Given the description of an element on the screen output the (x, y) to click on. 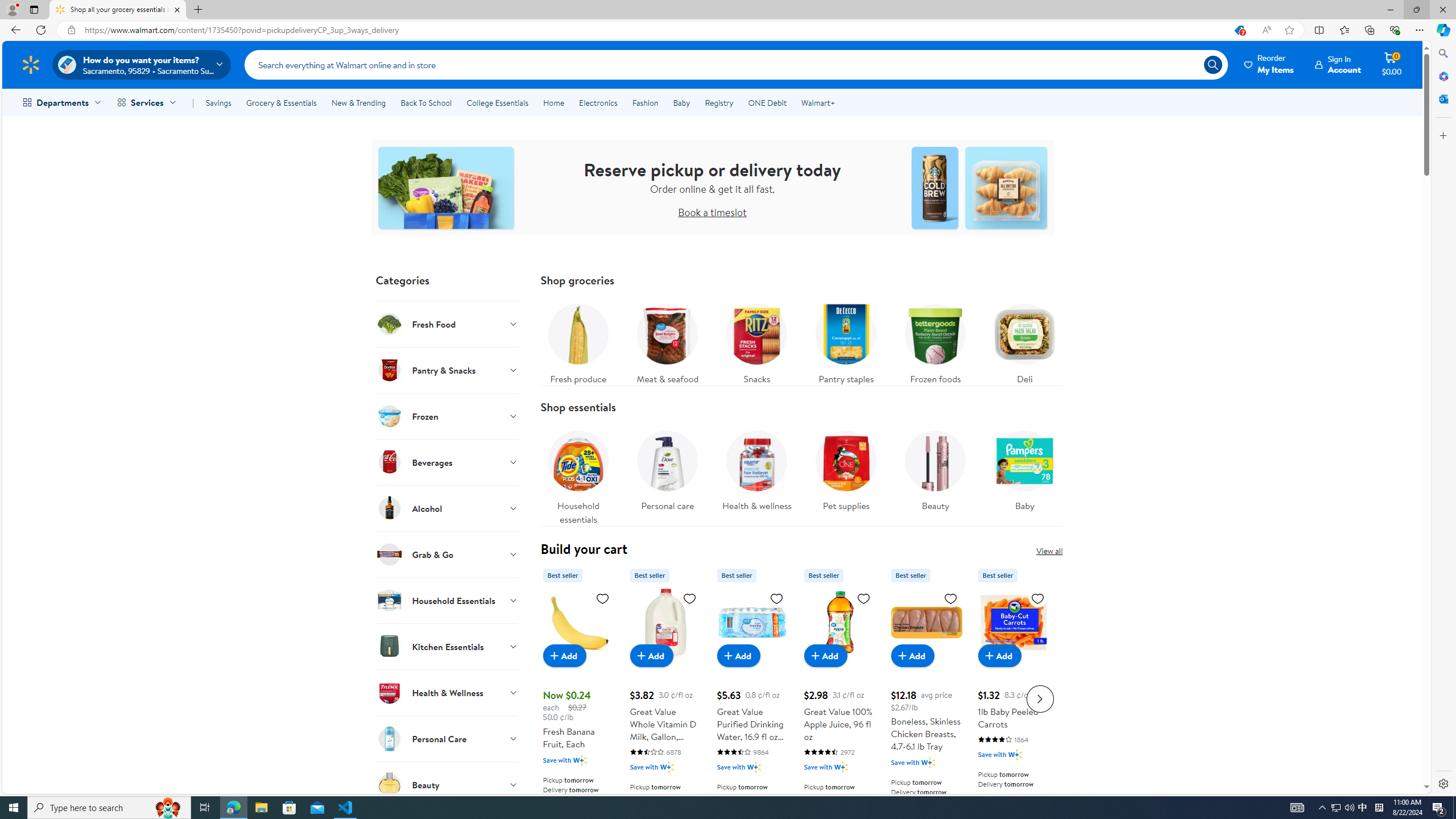
Add to cart - Fresh Banana Fruit, Each (564, 655)
Household essentials (577, 473)
Reorder My Items (1269, 64)
Fresh Banana Fruit, Each (578, 621)
Personal care (667, 473)
Frozen foods (935, 340)
Fresh produce (577, 340)
Kitchen Essentials (446, 646)
Book a timeslot (712, 211)
Fashion (644, 102)
